Given the description of an element on the screen output the (x, y) to click on. 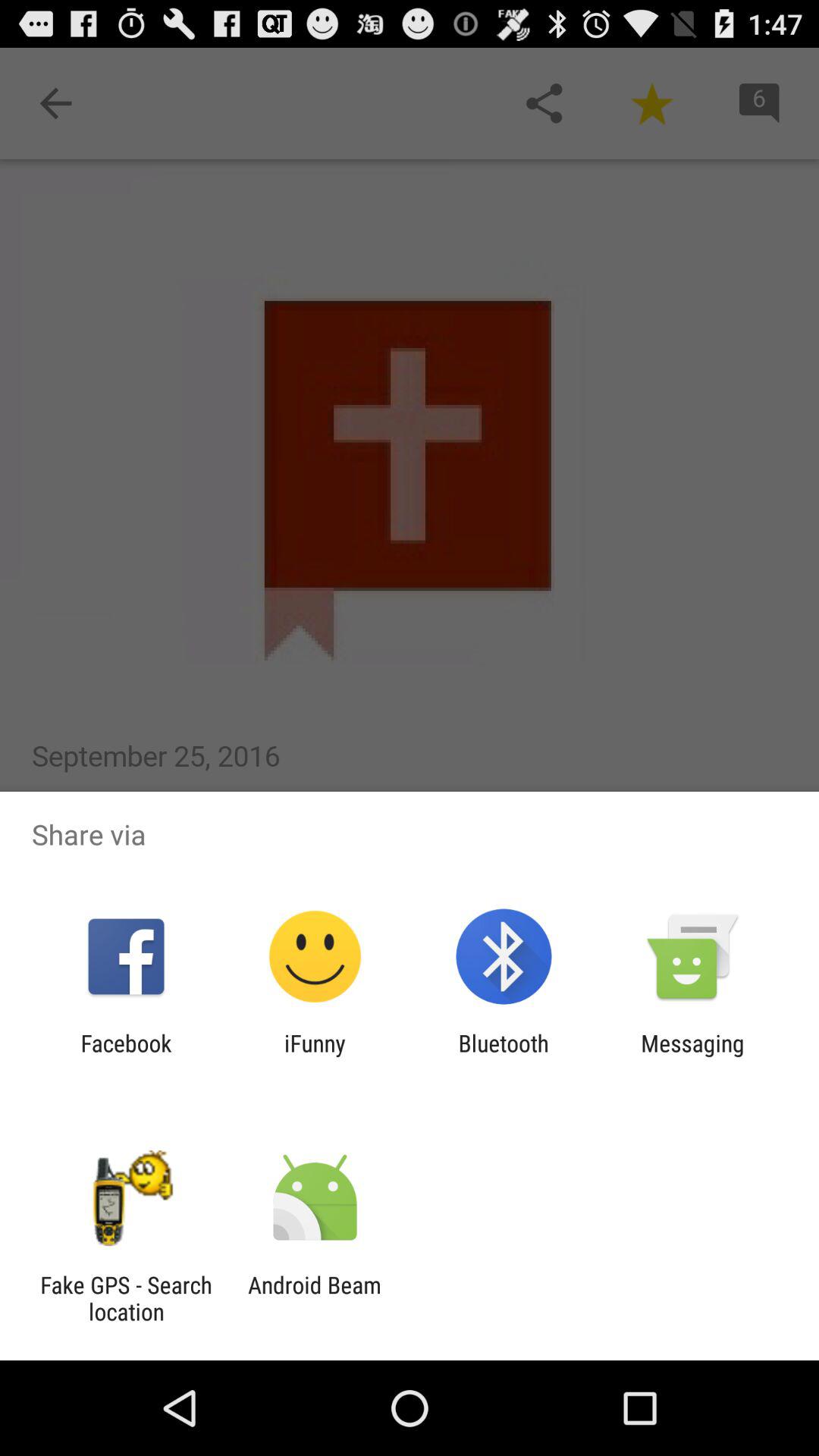
choose item next to the bluetooth item (692, 1056)
